Given the description of an element on the screen output the (x, y) to click on. 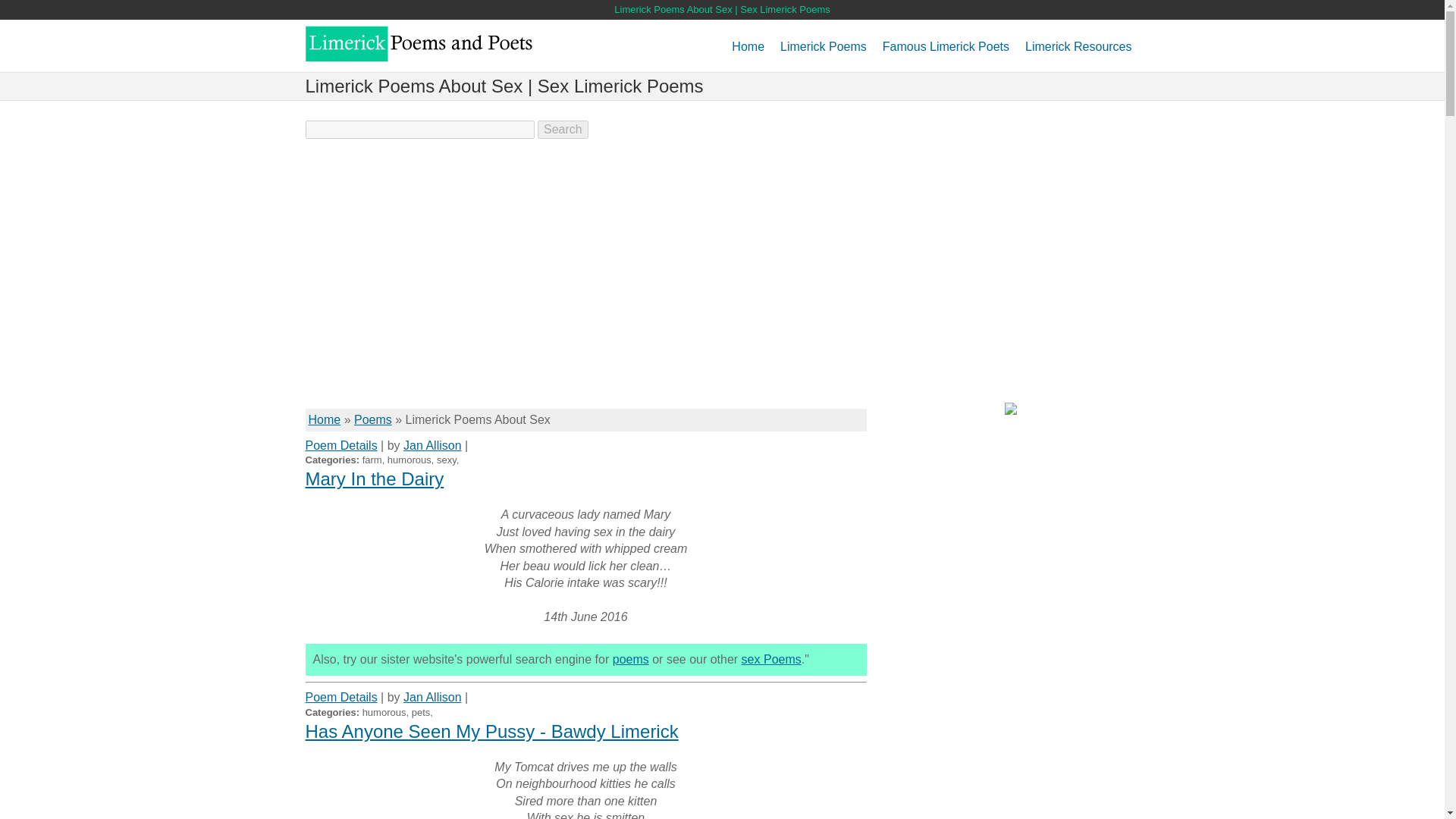
Limerick Poems (824, 51)
Limerick Resources (1077, 51)
Search (562, 129)
Has Anyone Seen My Pussy - Bawdy Limerick (491, 731)
Home (323, 419)
Jan Allison (432, 445)
Mary In the Dairy (374, 478)
Poems (372, 419)
Famous Limerick Poets (945, 51)
Advertisement (585, 286)
